Given the description of an element on the screen output the (x, y) to click on. 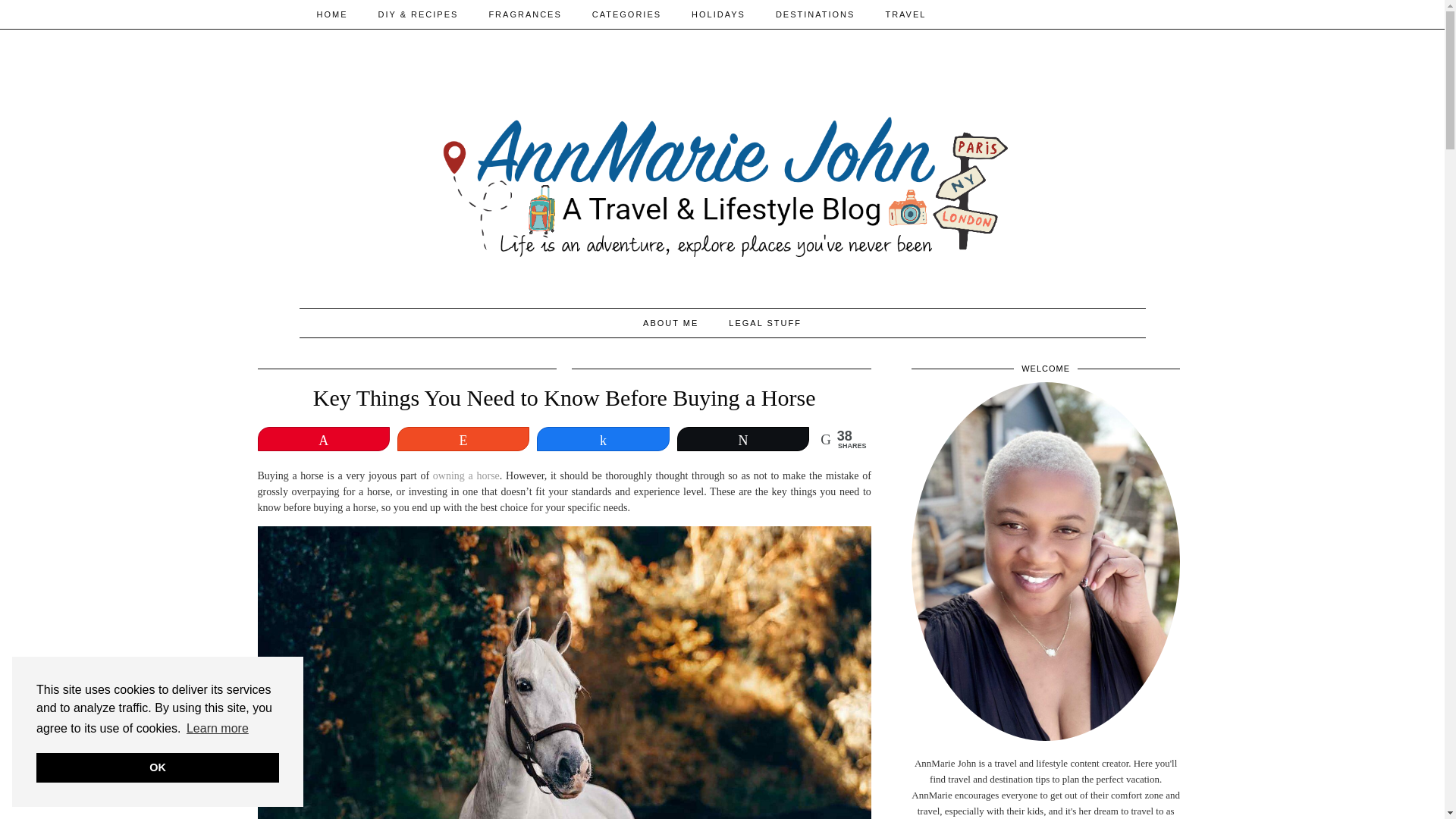
Learn more (217, 728)
OK (157, 767)
